Given the description of an element on the screen output the (x, y) to click on. 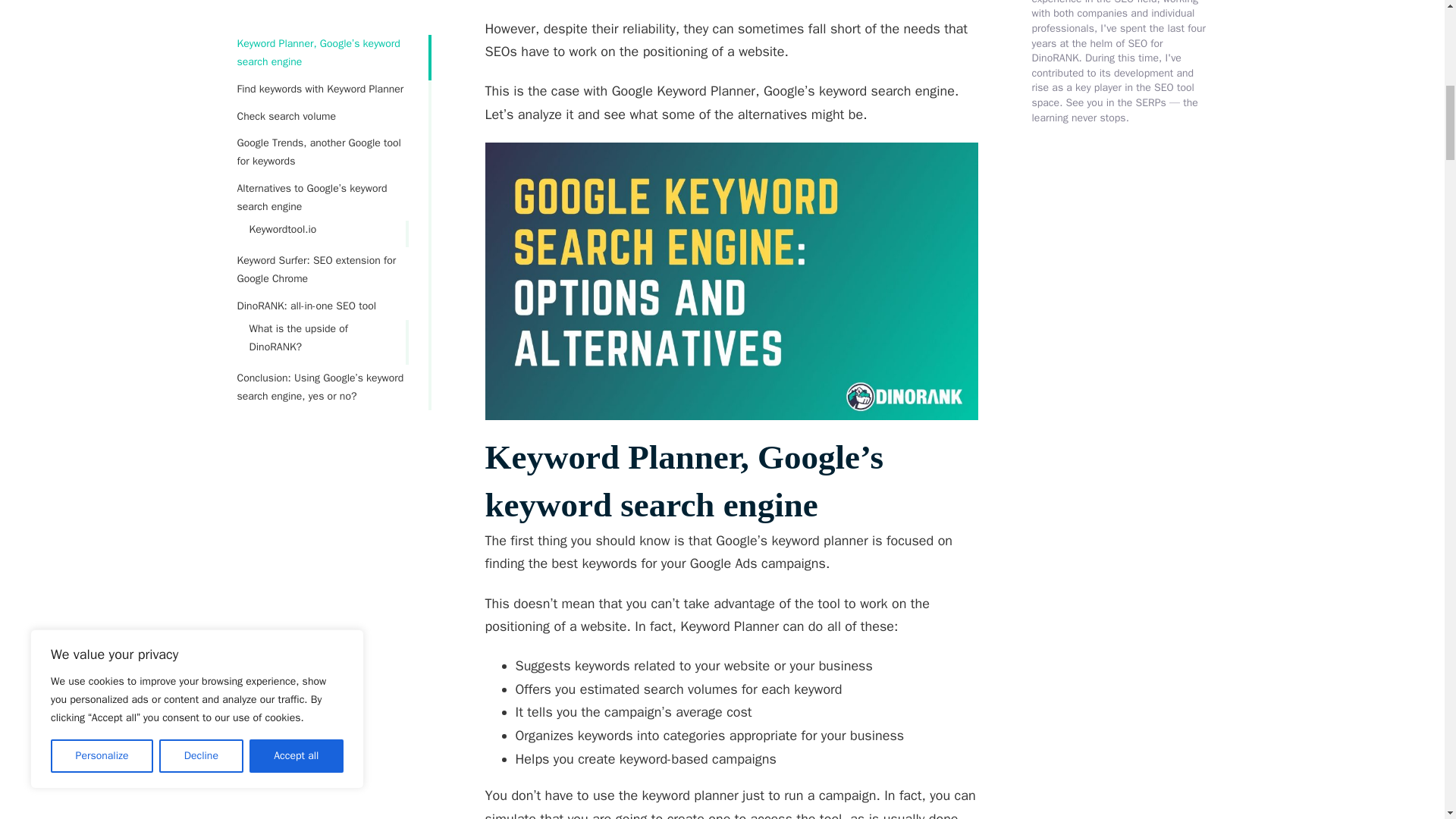
Google Trends, another Google tool for keywords (321, 53)
What is the upside of DinoRANK? (310, 238)
DinoRANK: all-in-one SEO tool (321, 207)
Keyword Surfer: SEO extension for Google Chrome (321, 170)
Keywordtool.io (310, 130)
Check search volume (321, 17)
